Given the description of an element on the screen output the (x, y) to click on. 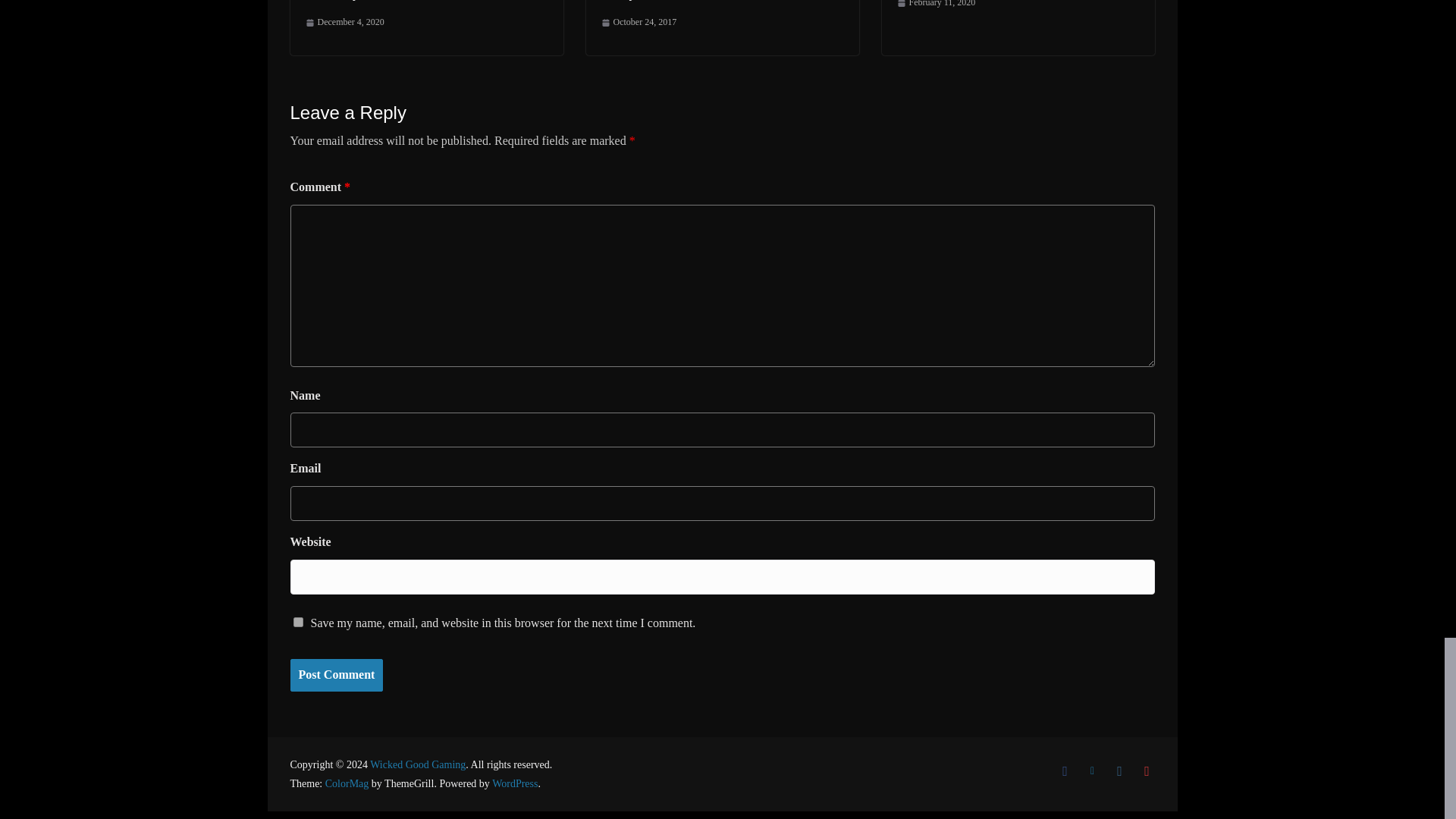
Post Comment (335, 675)
yes (297, 622)
